Given the description of an element on the screen output the (x, y) to click on. 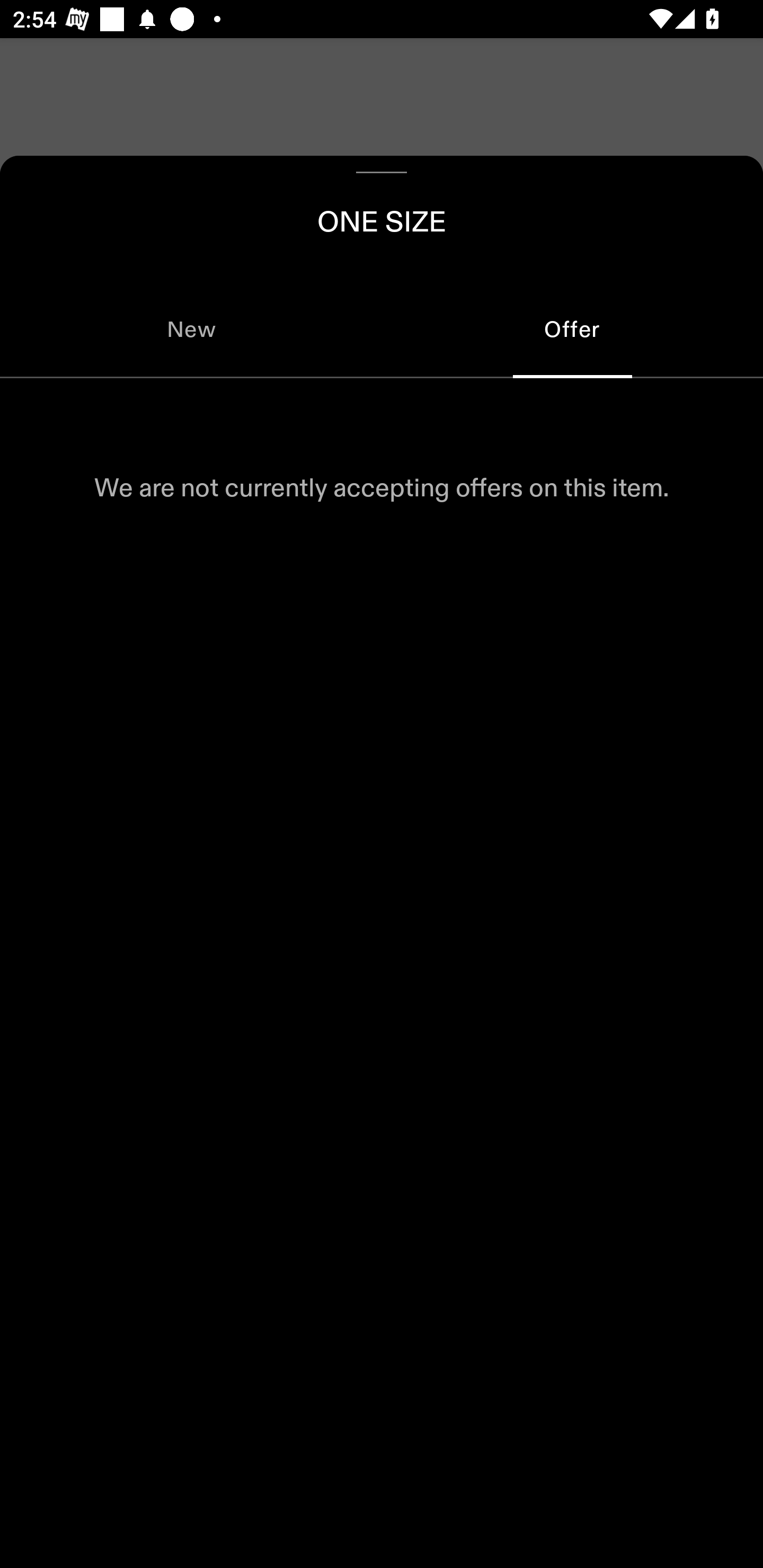
ONE SIZE (381, 218)
New (190, 329)
